Given the description of an element on the screen output the (x, y) to click on. 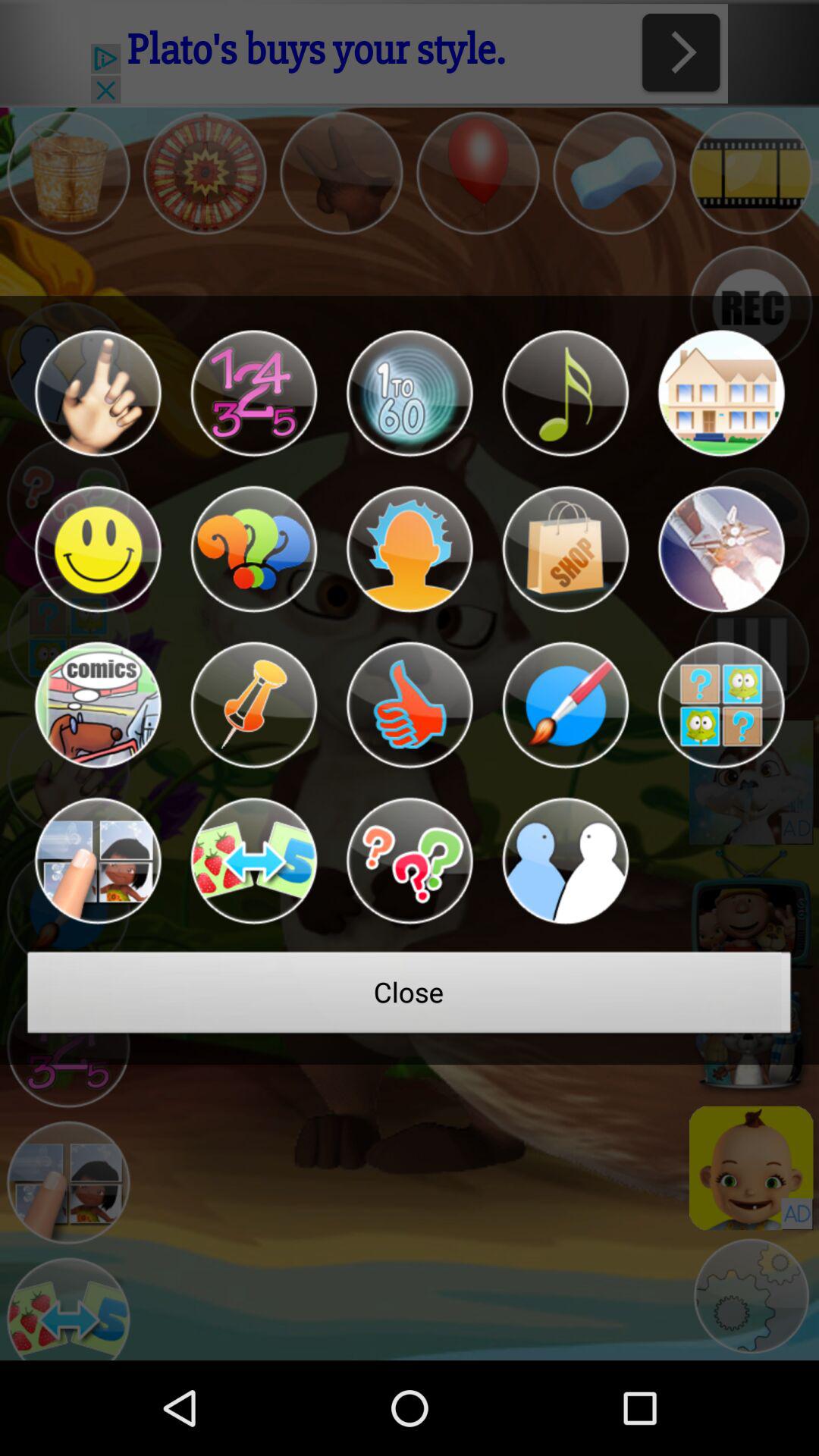
toggle widget (409, 393)
